Given the description of an element on the screen output the (x, y) to click on. 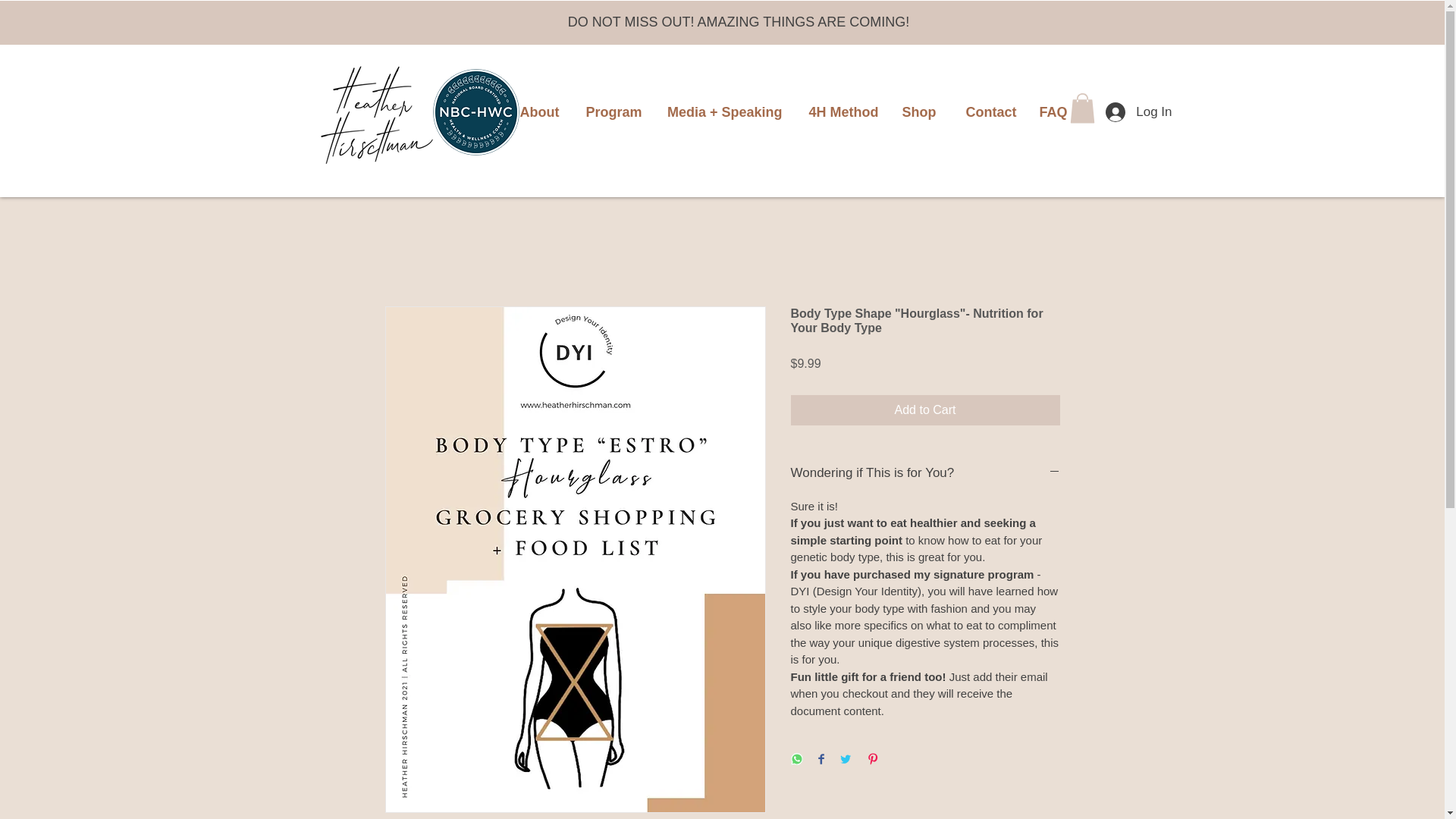
Contact (987, 112)
Log In (1138, 112)
Program (611, 112)
Wondering if This is for You? (924, 473)
Shop (918, 112)
4H Method (841, 112)
FAQ (1052, 112)
Add to Cart (924, 409)
About (538, 112)
